Given the description of an element on the screen output the (x, y) to click on. 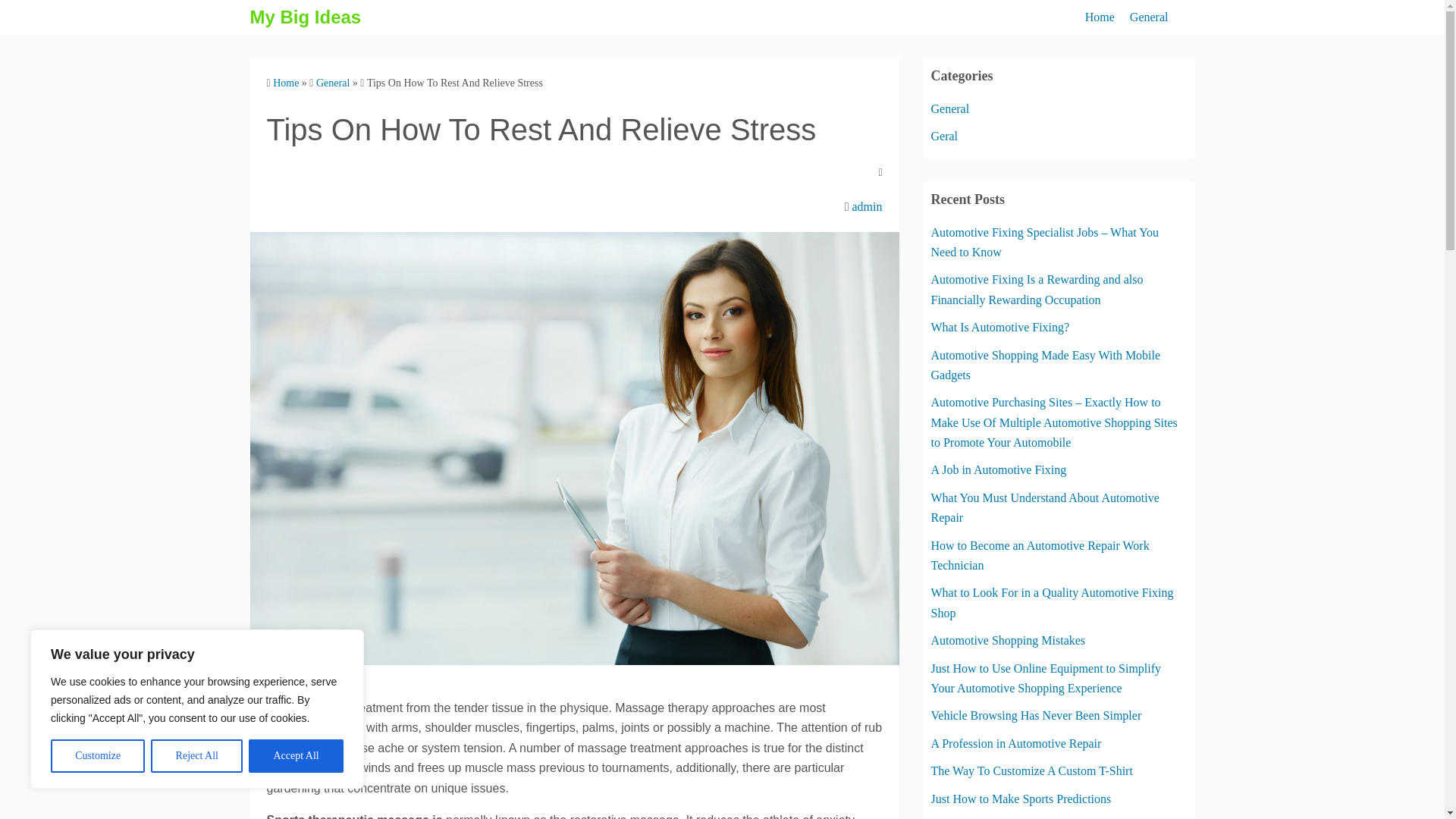
Geral (944, 135)
Customize (97, 756)
My Big Ideas (305, 16)
General (950, 108)
Reject All (197, 756)
admin (866, 205)
Home (285, 82)
General (1149, 17)
General (332, 82)
